Given the description of an element on the screen output the (x, y) to click on. 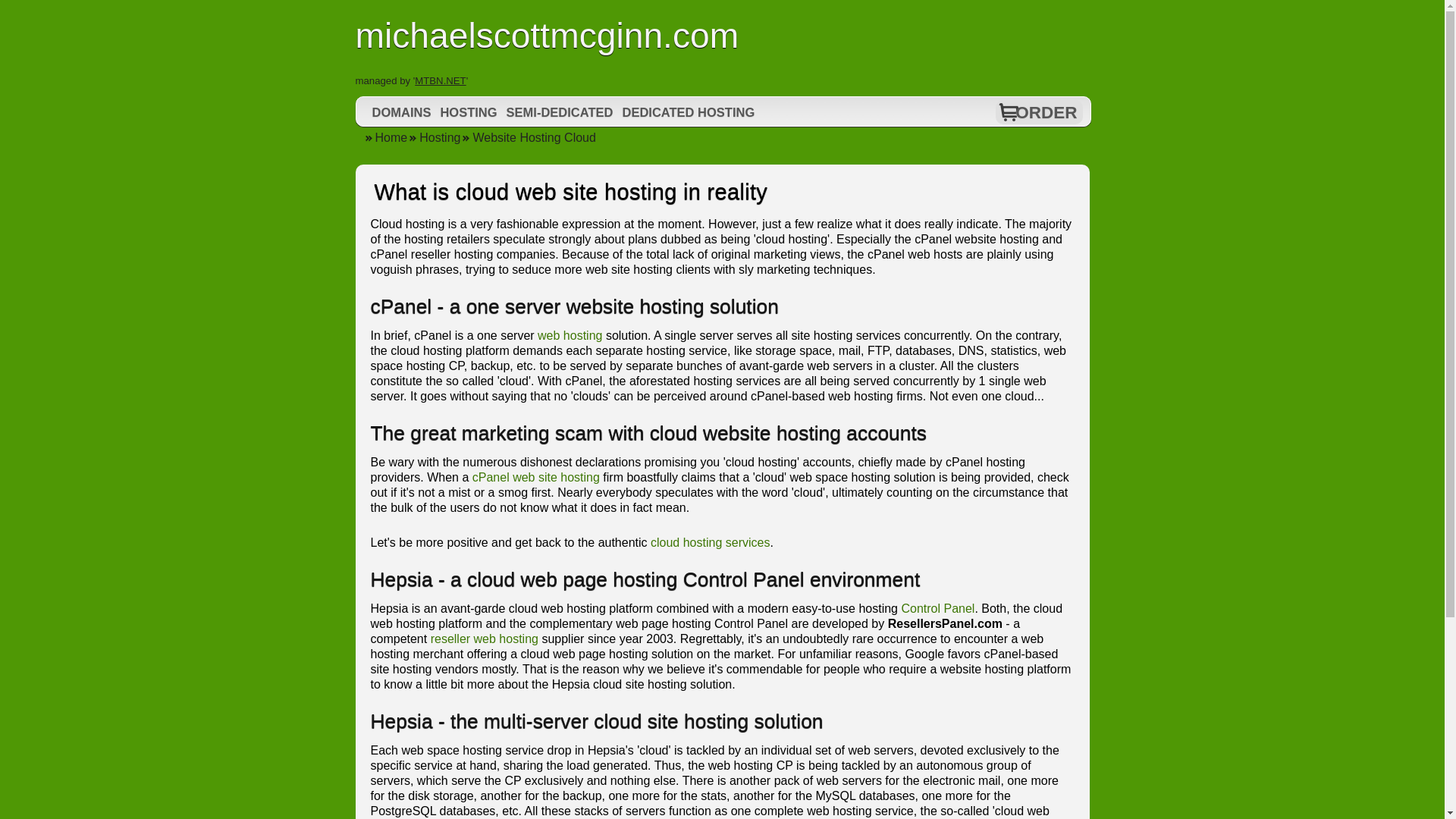
web hosting (569, 335)
reseller web hosting (484, 638)
Home (384, 137)
cloud hosting services (710, 542)
DOMAINS (401, 112)
HOSTING (467, 112)
cPanel web site hosting (535, 477)
SEMI-DEDICATED (559, 112)
MTBN.NET (439, 80)
DEDICATED HOSTING (687, 112)
ORDER (1045, 112)
Control Panel (937, 608)
Hosting (433, 137)
